Given the description of an element on the screen output the (x, y) to click on. 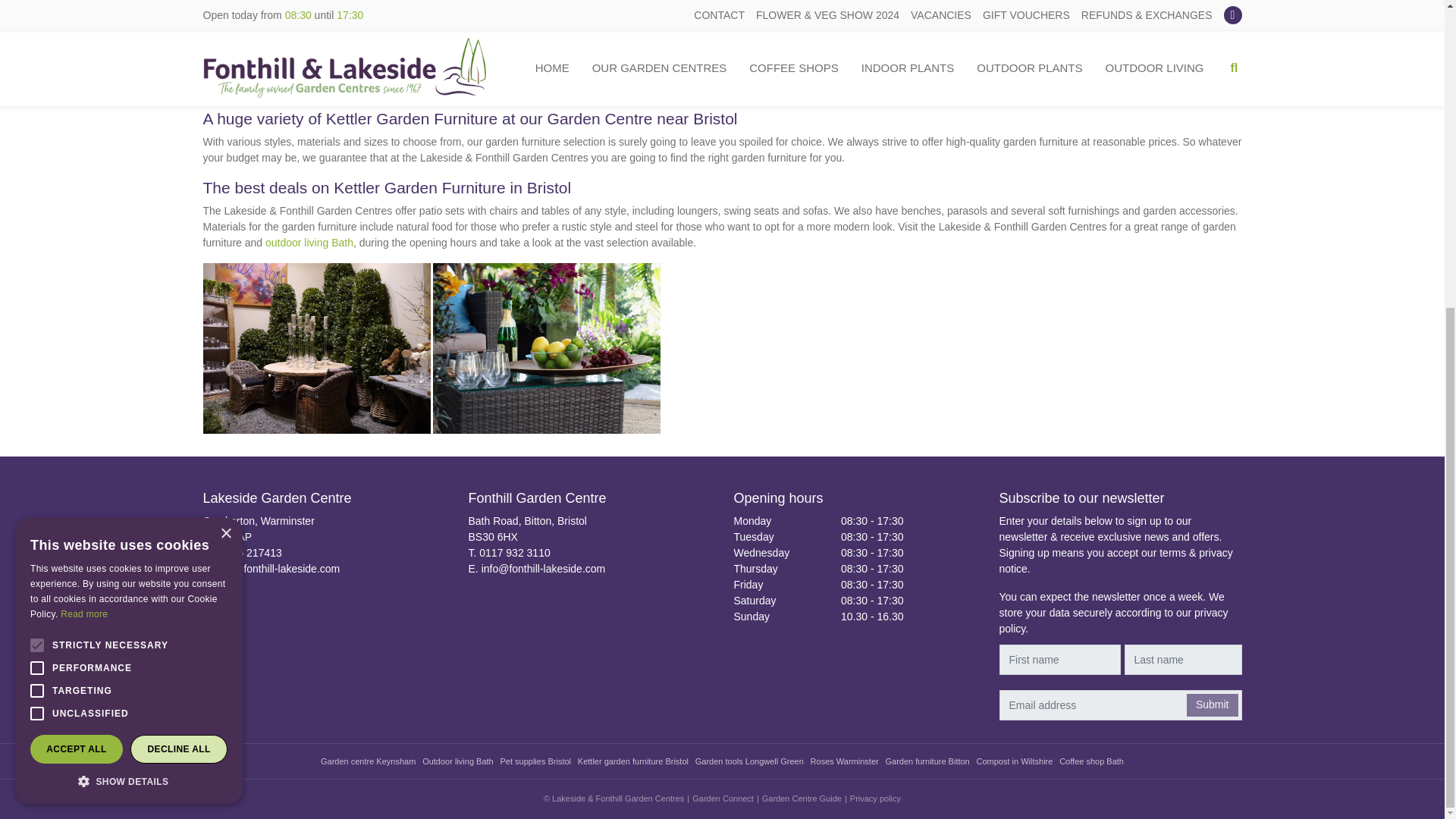
Submit (1212, 704)
Pet supplies Bristol (534, 760)
Submit (1212, 704)
outdoor living Bath (308, 242)
Outdoor living Bath (457, 760)
Roses Warminster (844, 760)
Garden centre Keynsham (367, 760)
privacy policy. (1113, 620)
Kettler garden furniture Bristol (633, 760)
Garden tools Longwell Green (749, 760)
